Given the description of an element on the screen output the (x, y) to click on. 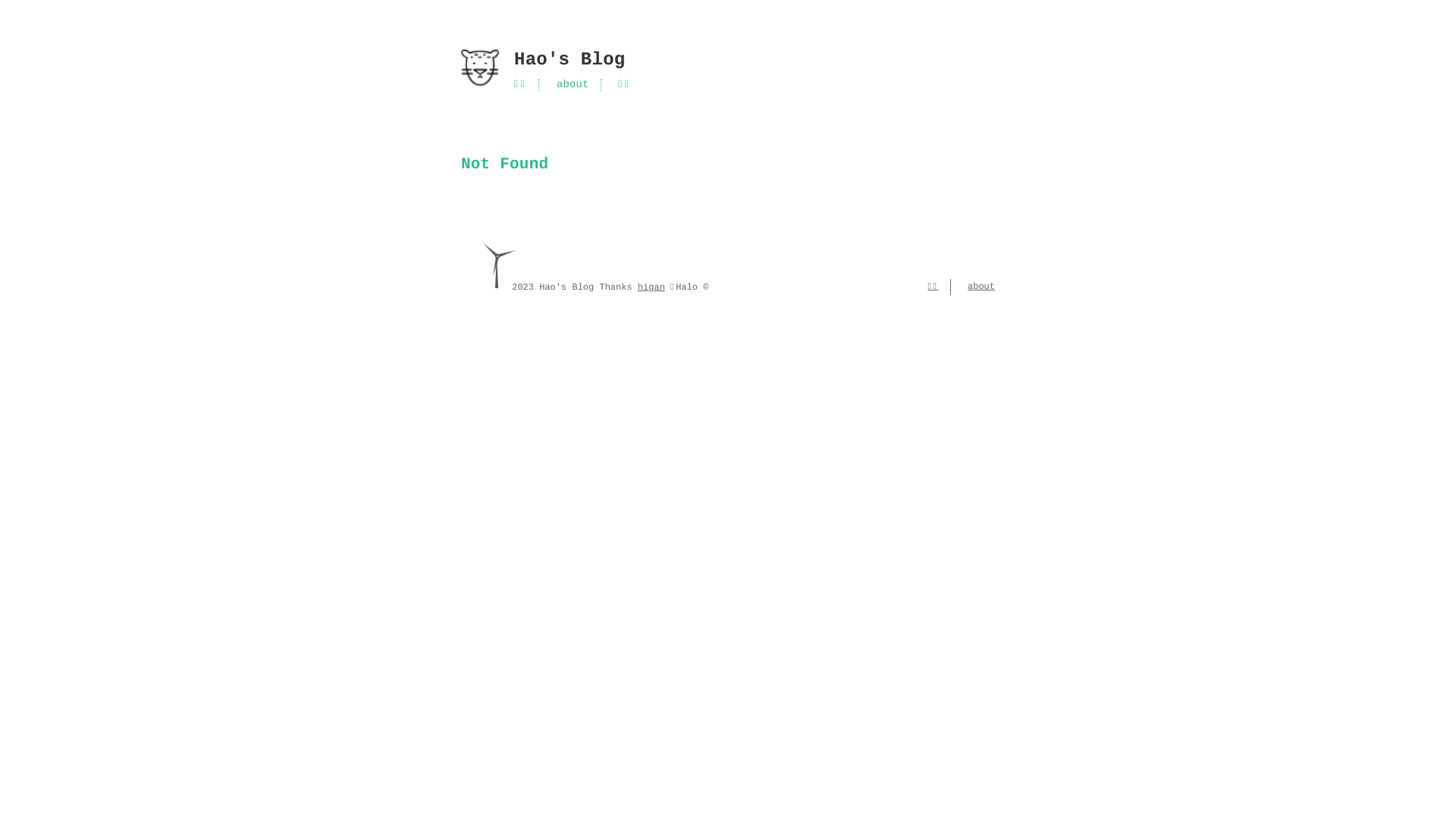
Hao's Blog Element type: text (727, 60)
about Element type: text (980, 286)
about Element type: text (572, 84)
higan Element type: text (651, 287)
